Given the description of an element on the screen output the (x, y) to click on. 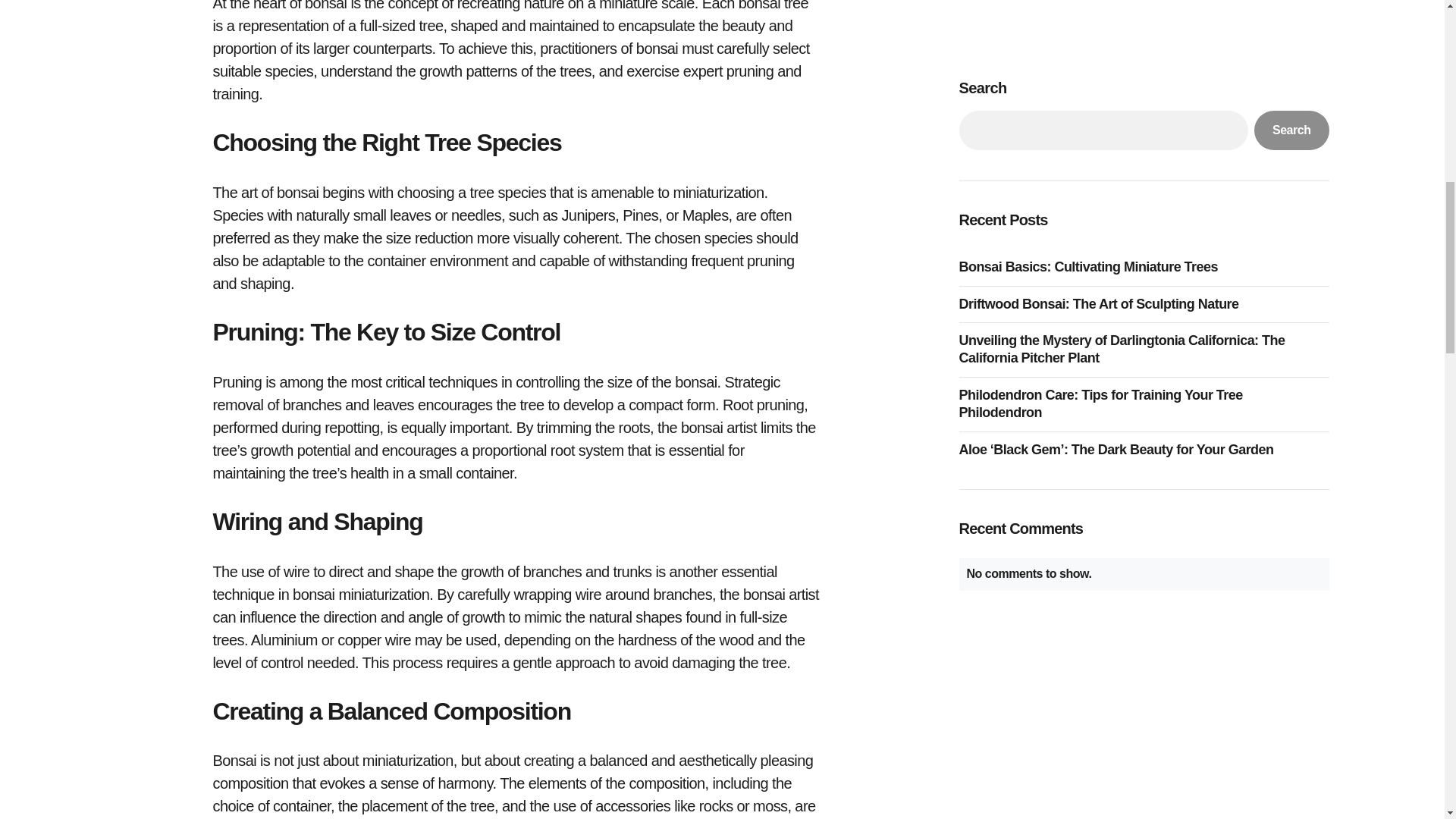
Philodendron Care: Tips for Training Your Tree Philodendron (1142, 94)
Driftwood Bonsai: The Art of Sculpting Nature (1102, 1)
